Given the description of an element on the screen output the (x, y) to click on. 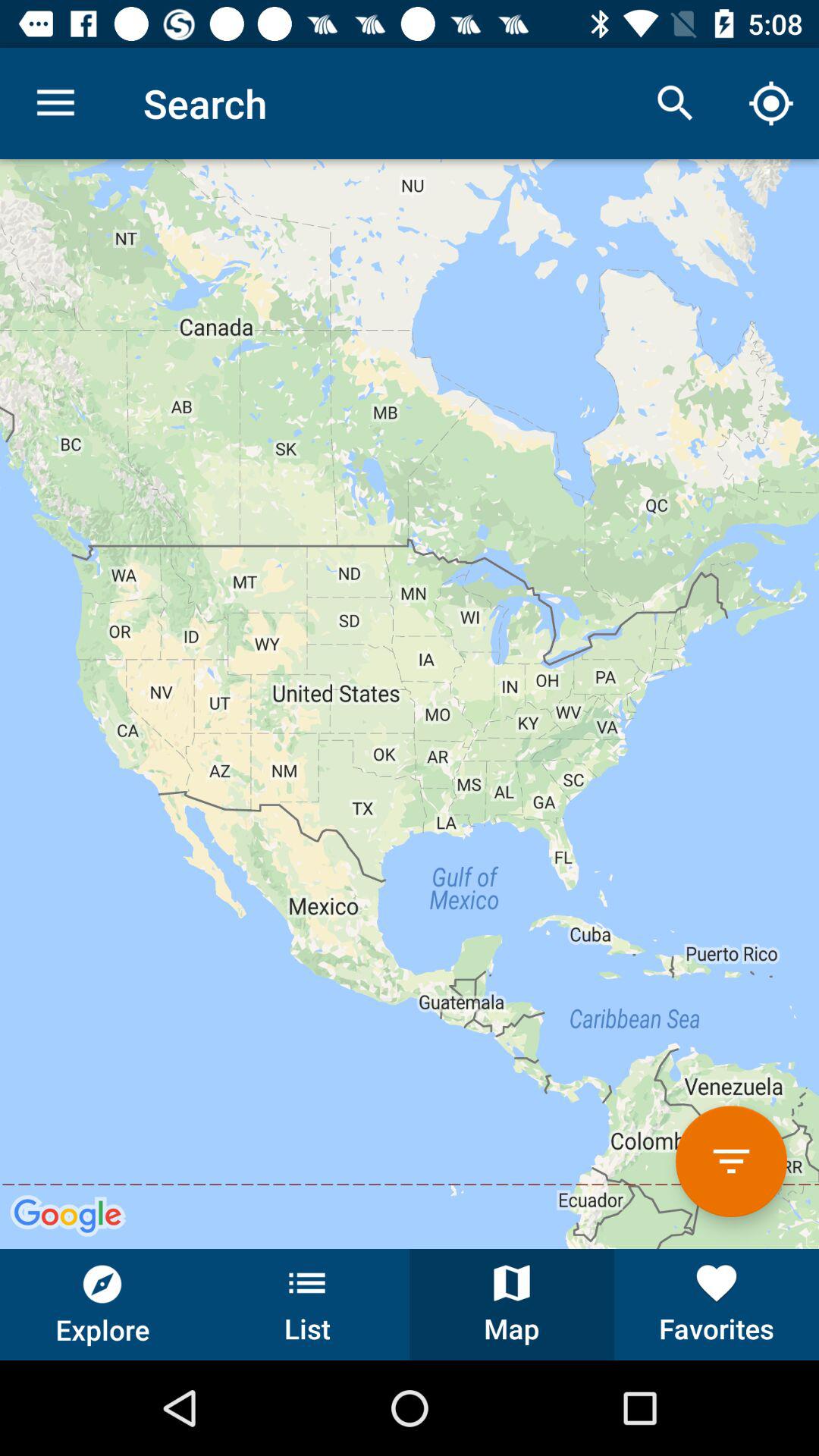
turn off button to the right of the map button (716, 1304)
